Given the description of an element on the screen output the (x, y) to click on. 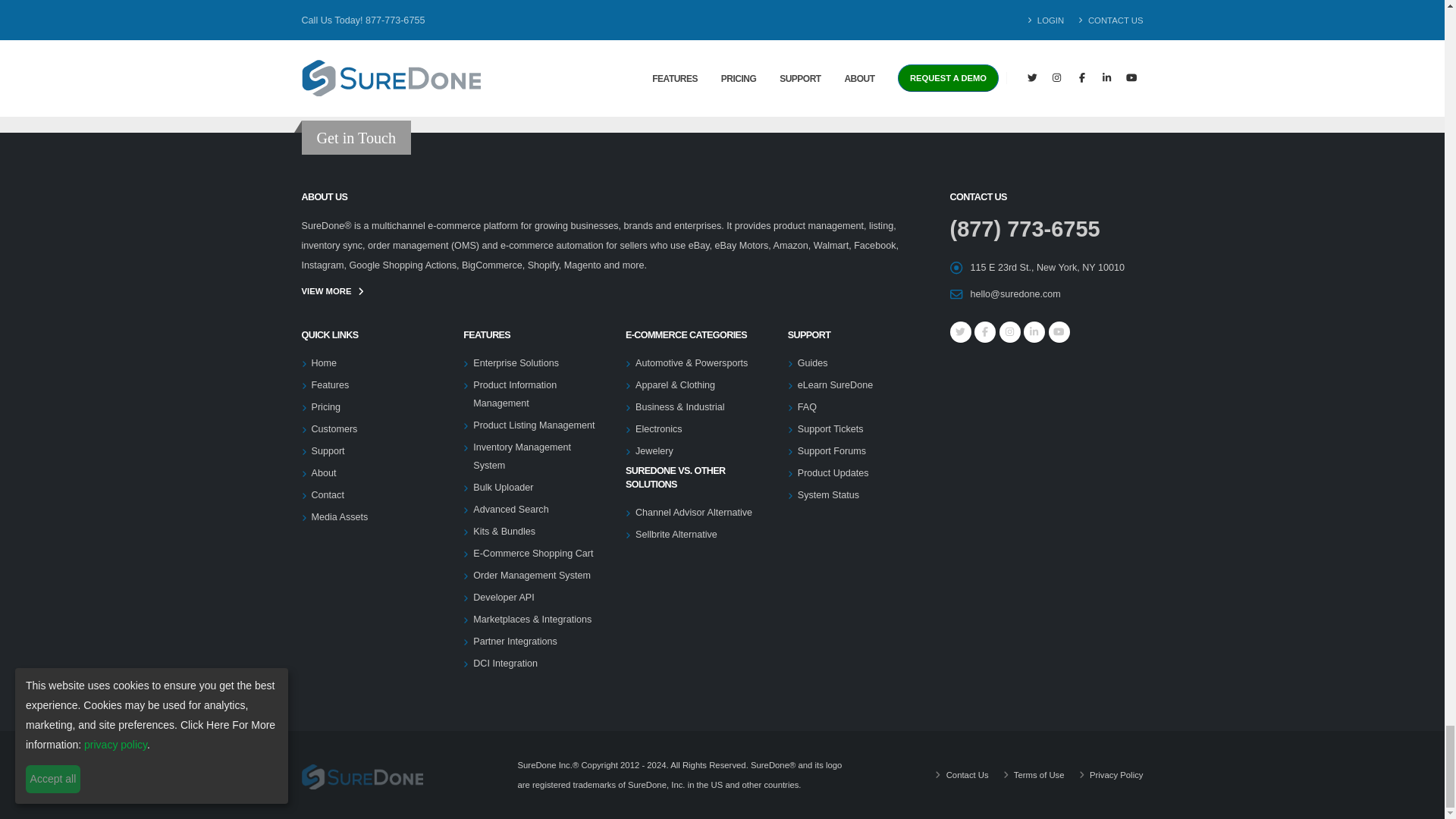
Twitter (960, 332)
Linkedin (1034, 332)
Youtube (1058, 332)
Facebook (1009, 332)
Facebook (984, 332)
